Given the description of an element on the screen output the (x, y) to click on. 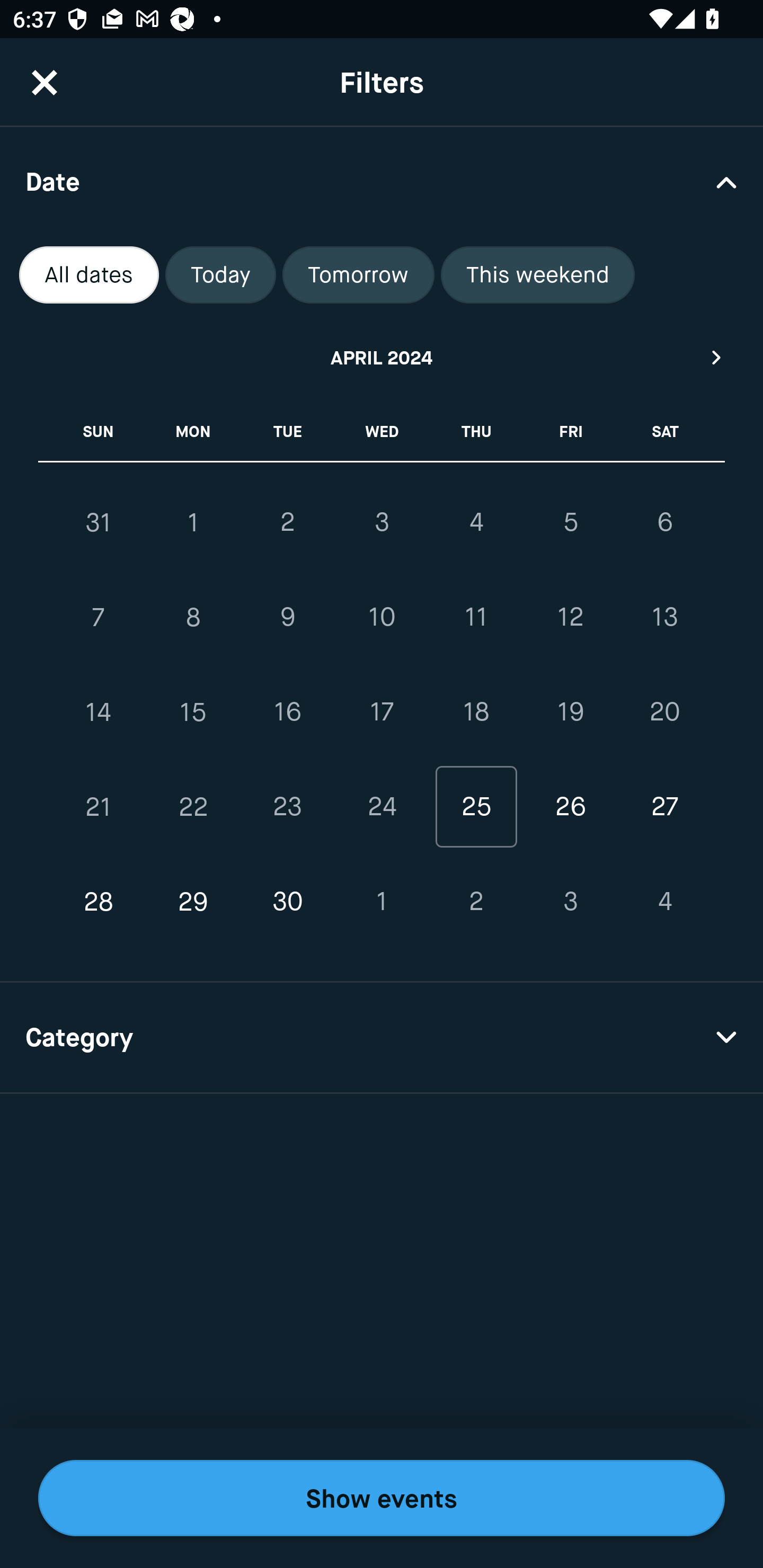
CloseButton (44, 82)
Date Drop Down Arrow (381, 181)
All dates (88, 274)
Today (220, 274)
Tomorrow (358, 274)
This weekend (537, 274)
Next (717, 357)
31 (98, 522)
1 (192, 522)
2 (287, 522)
3 (381, 522)
4 (475, 522)
5 (570, 522)
6 (664, 522)
7 (98, 617)
8 (192, 617)
9 (287, 617)
10 (381, 617)
11 (475, 617)
12 (570, 617)
13 (664, 617)
14 (98, 711)
15 (192, 711)
16 (287, 711)
17 (381, 711)
18 (475, 711)
19 (570, 711)
20 (664, 711)
21 (98, 806)
22 (192, 806)
23 (287, 806)
24 (381, 806)
25 (475, 806)
26 (570, 806)
27 (664, 806)
28 (98, 901)
29 (192, 901)
30 (287, 901)
1 (381, 901)
2 (475, 901)
3 (570, 901)
4 (664, 901)
Category Drop Down Arrow (381, 1038)
Show events (381, 1497)
